Given the description of an element on the screen output the (x, y) to click on. 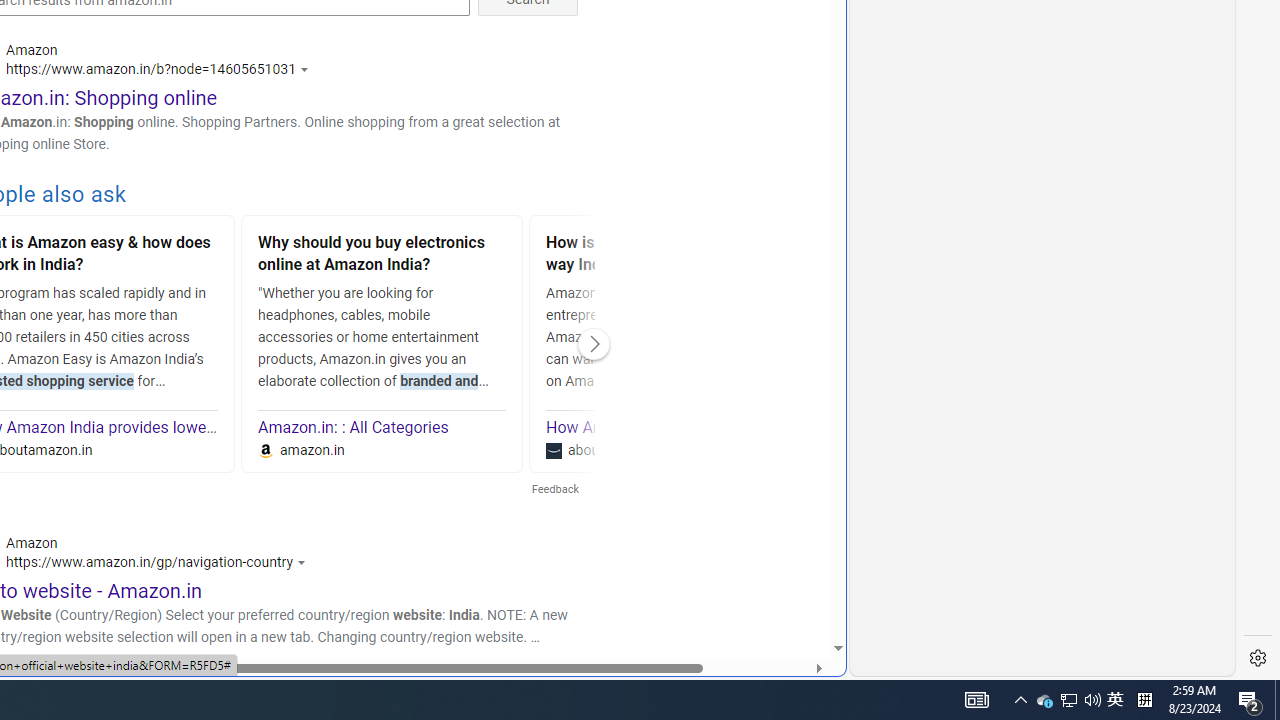
How is Amazon easy changing the way India buys? (669, 255)
AutomationID: mfa_root (762, 588)
Amazon.in: : All Categories (353, 427)
Why should you buy electronics online at Amazon India? (381, 255)
Settings (1258, 658)
Feedback (554, 489)
Search more (792, 588)
Click to scroll right (594, 344)
Actions for this site (305, 562)
